Given the description of an element on the screen output the (x, y) to click on. 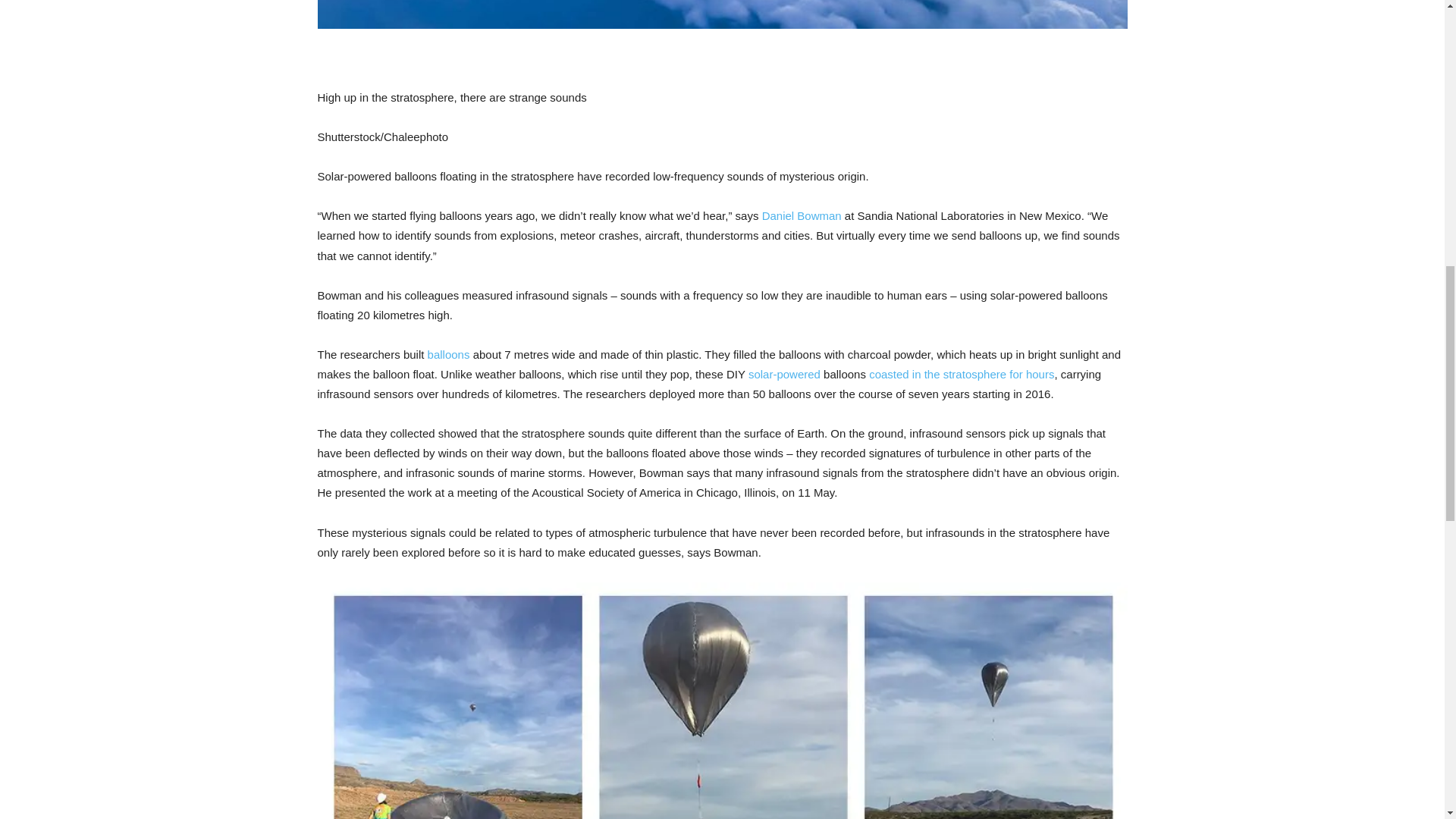
balloons (449, 354)
coasted in the stratosphere for hours (961, 373)
Daniel Bowman (801, 215)
solar-powered (784, 373)
